Given the description of an element on the screen output the (x, y) to click on. 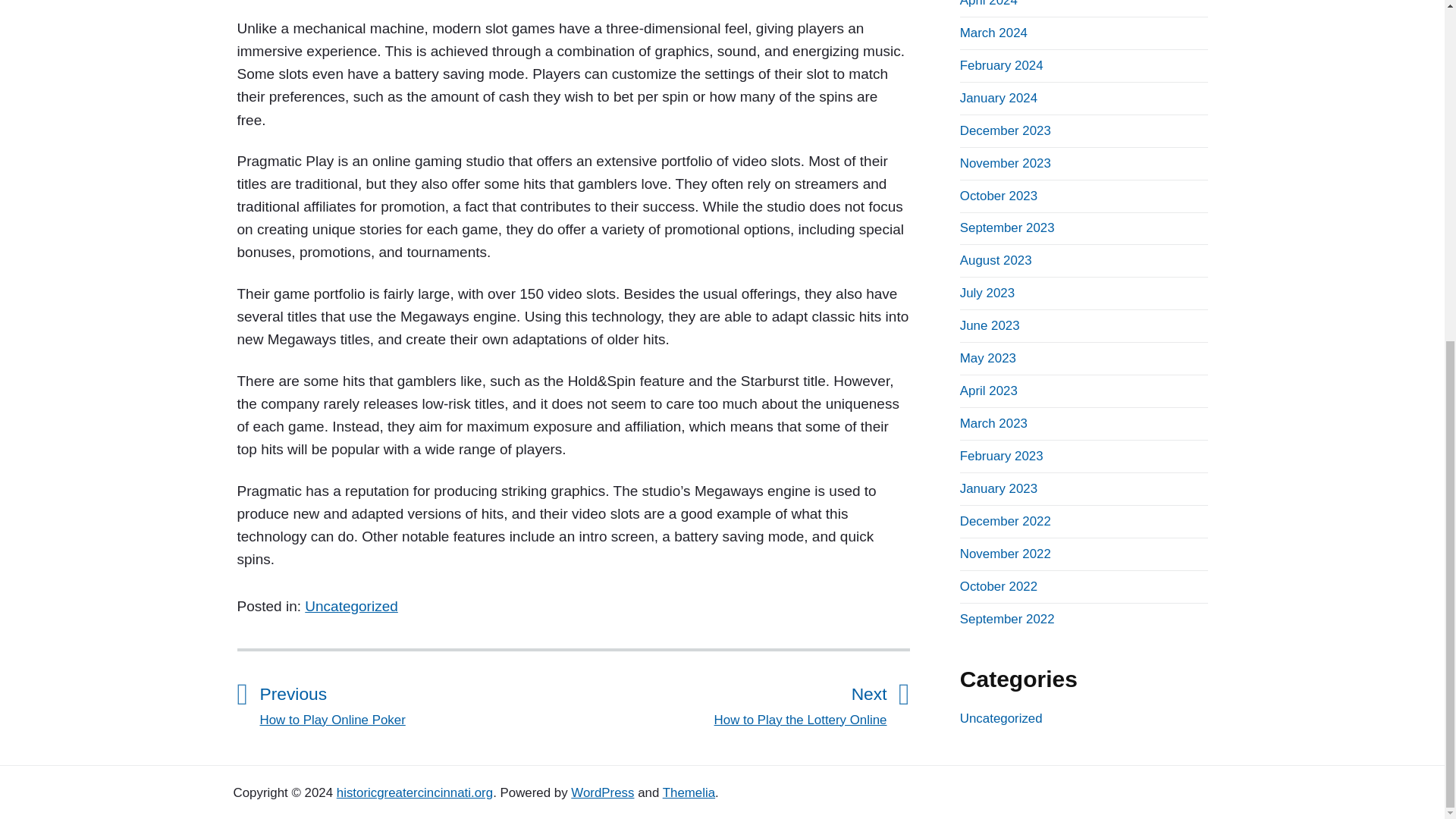
January 2024 (997, 97)
February 2024 (1001, 65)
Uncategorized (350, 606)
September 2022 (1006, 618)
March 2024 (729, 702)
April 2023 (993, 32)
March 2023 (988, 391)
historicgreatercincinnati.org (993, 423)
October 2023 (414, 792)
August 2023 (997, 196)
December 2022 (995, 260)
December 2023 (1005, 521)
July 2023 (1005, 130)
January 2023 (986, 292)
